Given the description of an element on the screen output the (x, y) to click on. 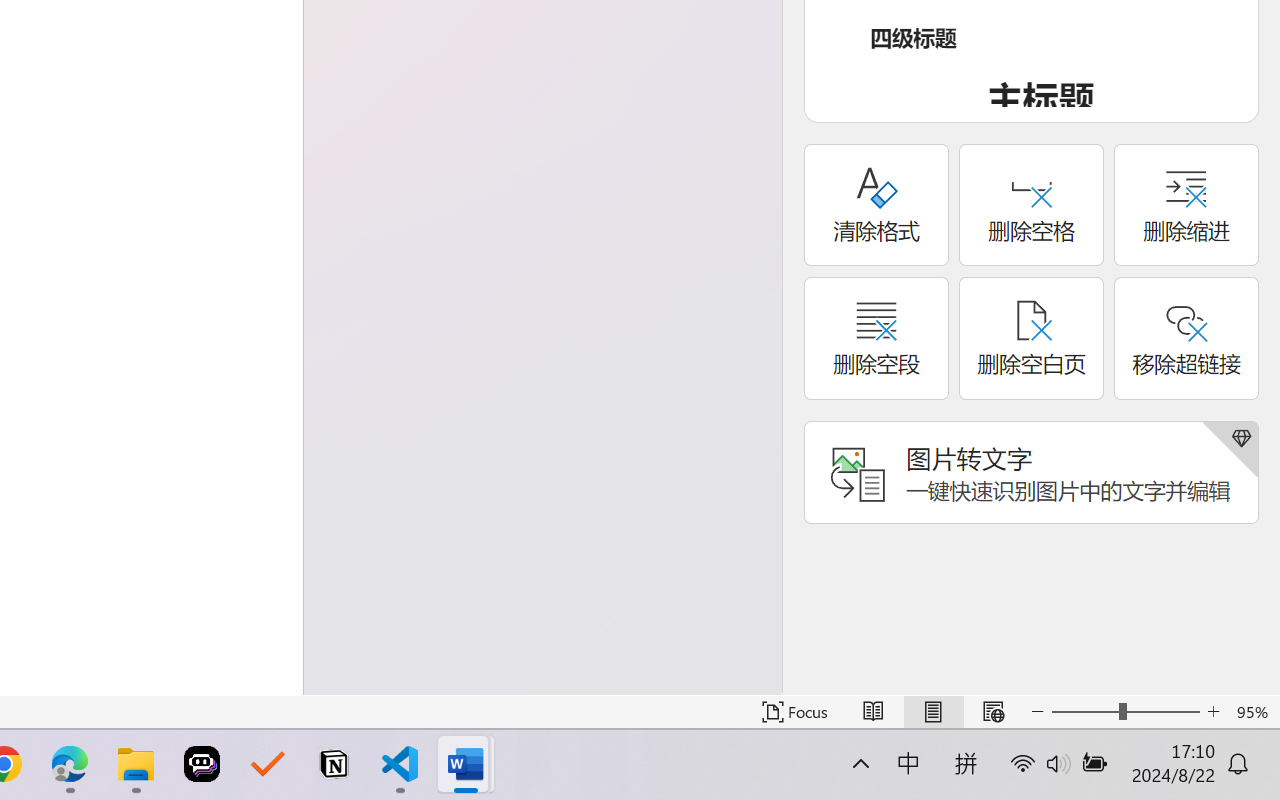
Zoom 95% (1253, 712)
